Given the description of an element on the screen output the (x, y) to click on. 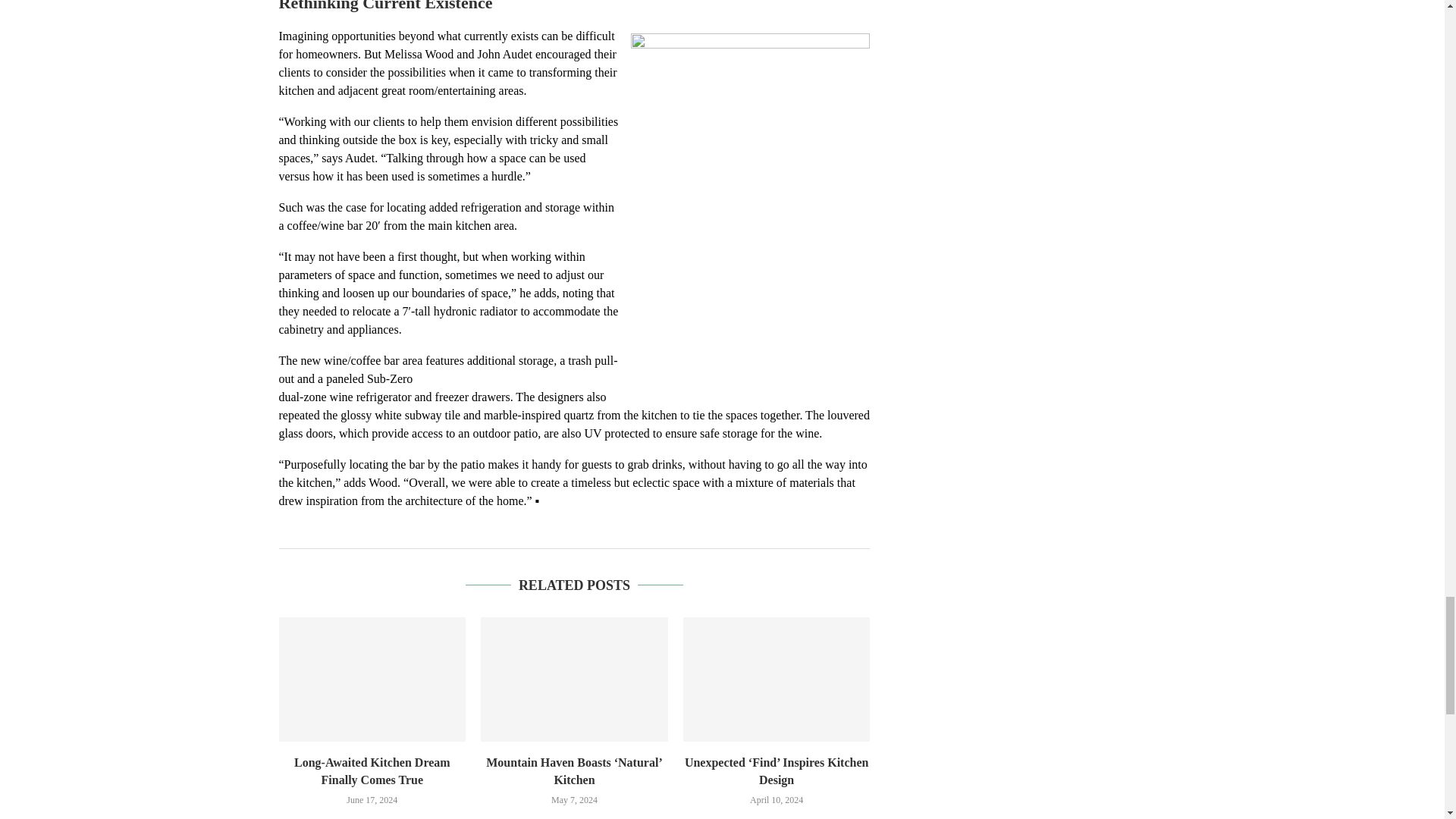
Long-Awaited Kitchen Dream Finally Comes True (372, 679)
